Given the description of an element on the screen output the (x, y) to click on. 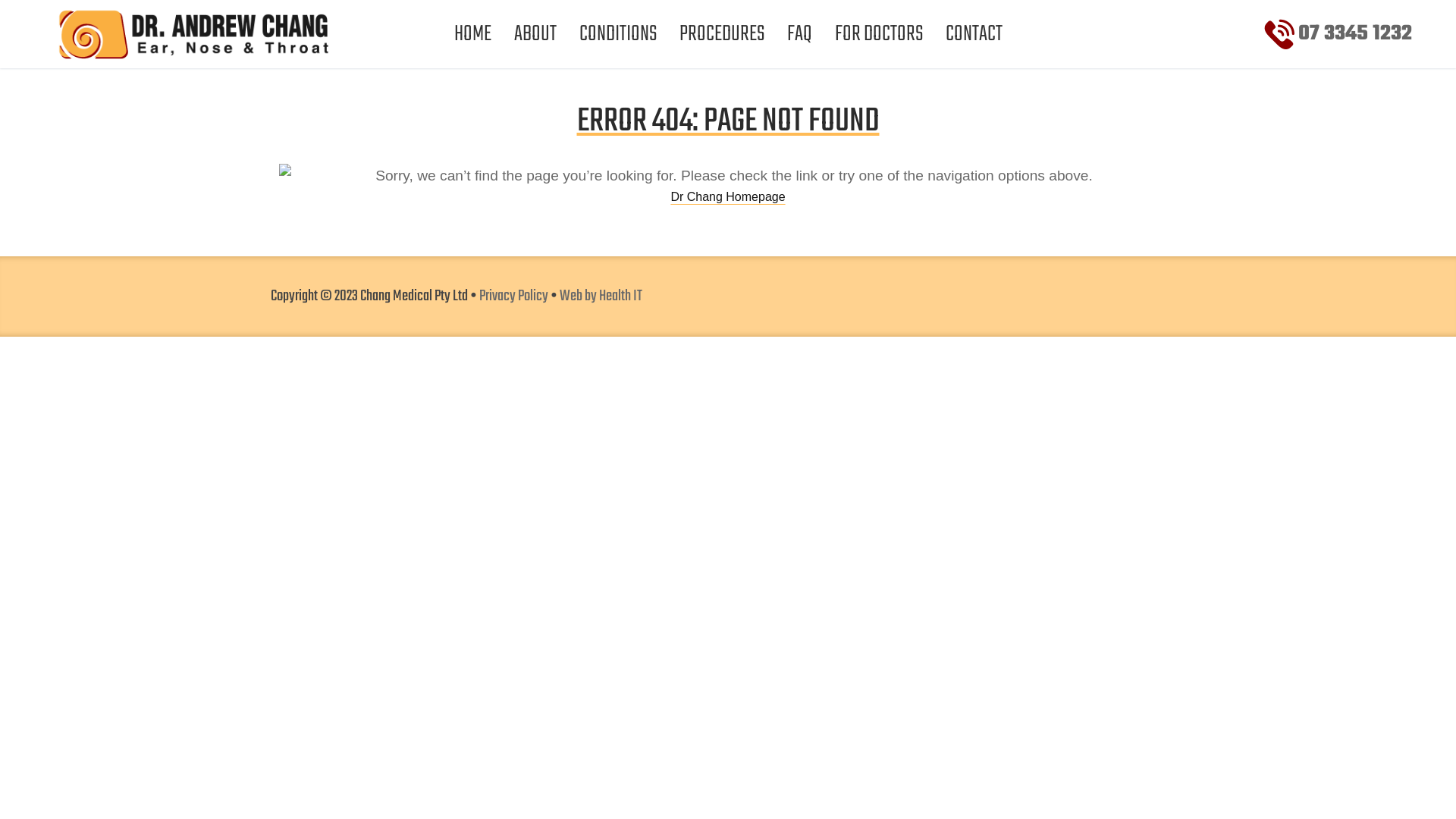
Privacy Policy Element type: text (513, 296)
CONDITIONS Element type: text (616, 33)
Dr Chang Homepage Element type: text (727, 196)
PROCEDURES Element type: text (720, 33)
CONTACT Element type: text (973, 33)
FOR DOCTORS Element type: text (878, 33)
HOME Element type: text (472, 33)
ABOUT Element type: text (534, 33)
FAQ Element type: text (798, 33)
Web by Health IT Element type: text (600, 296)
